Given the description of an element on the screen output the (x, y) to click on. 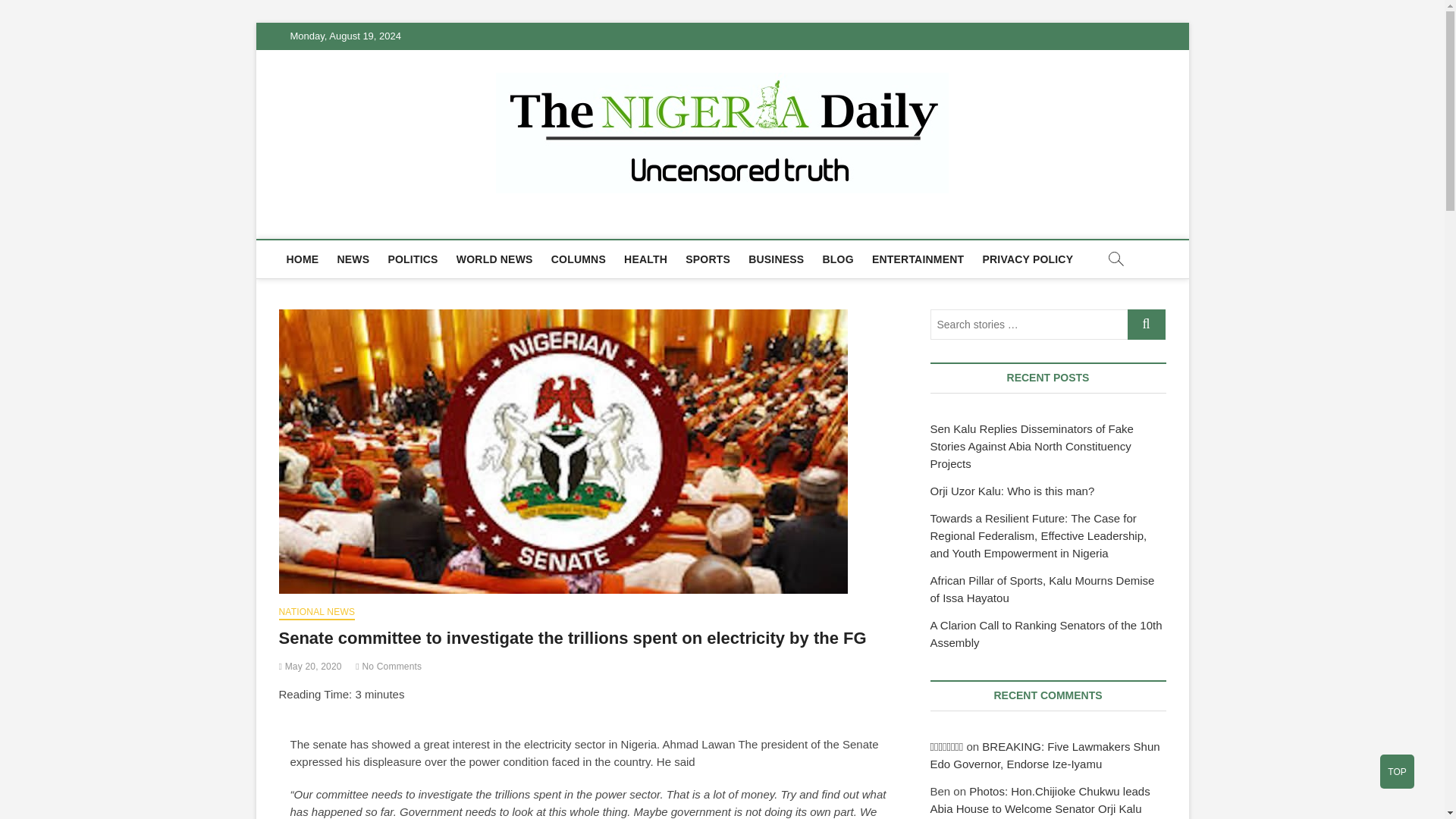
ENTERTAINMENT (917, 259)
May 20, 2020 (310, 665)
The Nigeria Daily (391, 221)
No Comments (388, 665)
HOME (302, 259)
BLOG (838, 259)
May 20, 2020 (310, 665)
WORLD NEWS (494, 259)
SPORTS (708, 259)
